Given the description of an element on the screen output the (x, y) to click on. 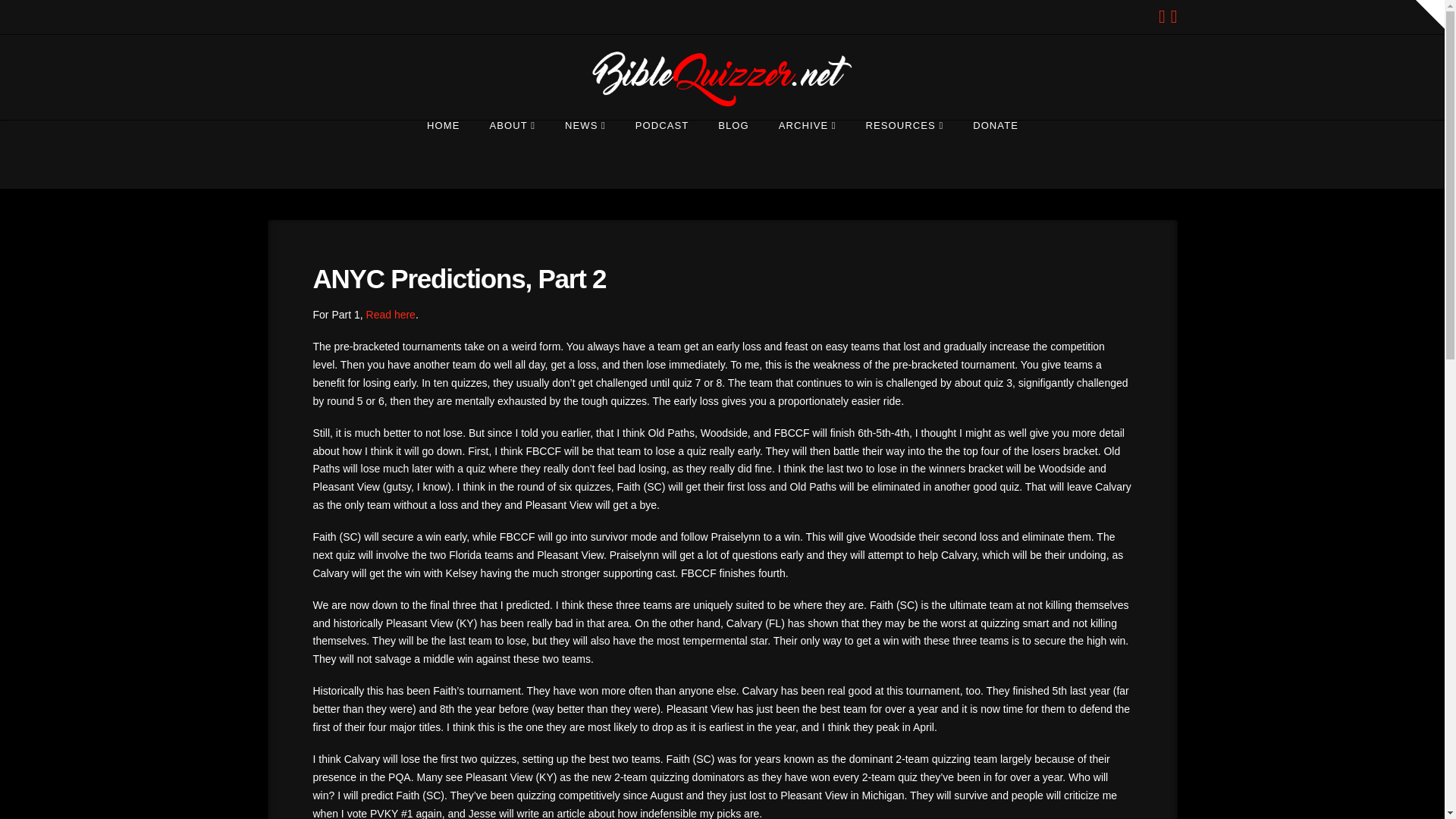
NEWS (585, 154)
PODCAST (661, 154)
ABOUT (512, 154)
HOME (443, 154)
ARCHIVE (806, 154)
